Given the description of an element on the screen output the (x, y) to click on. 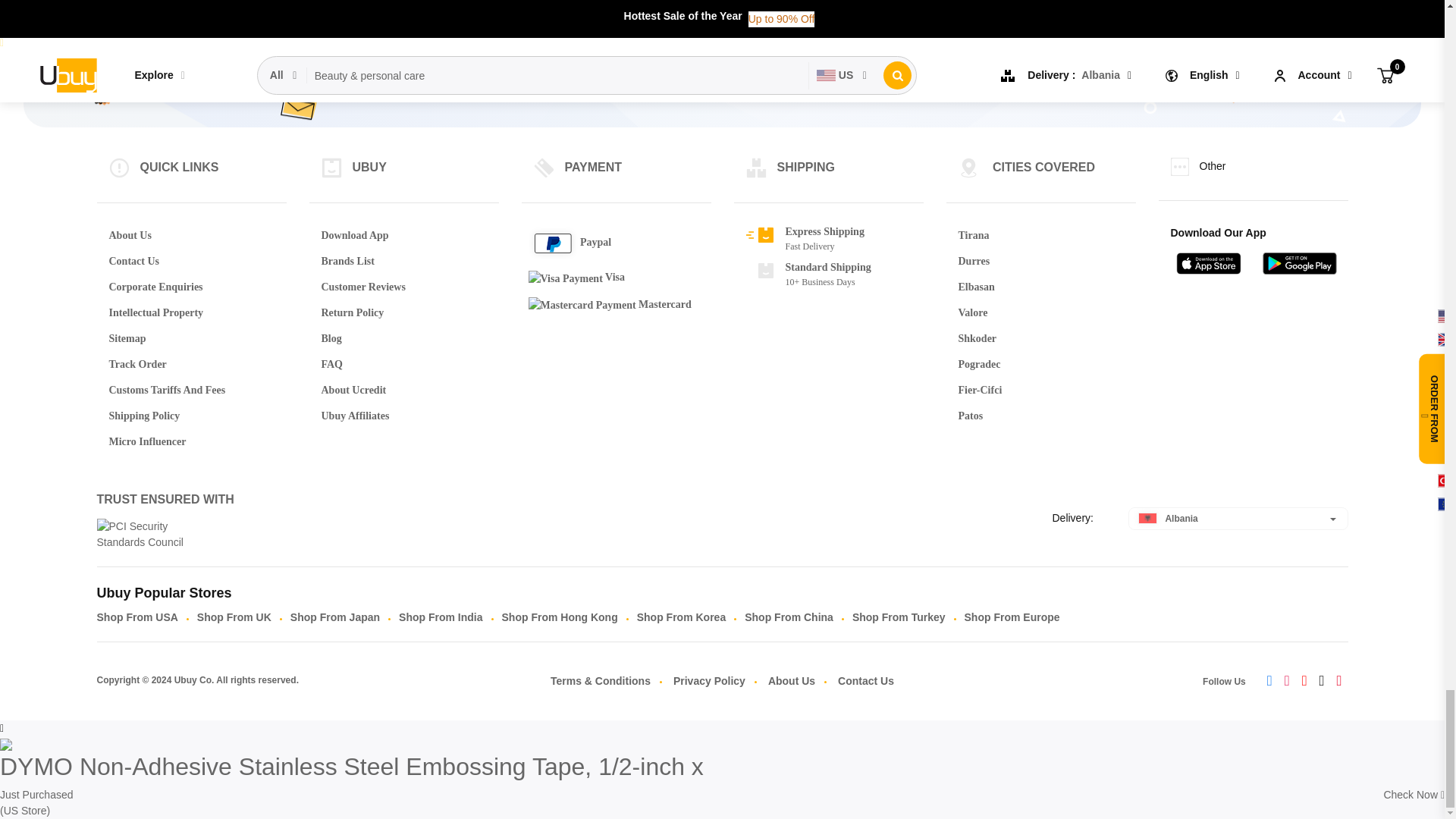
Subscribe (885, 73)
